Given the description of an element on the screen output the (x, y) to click on. 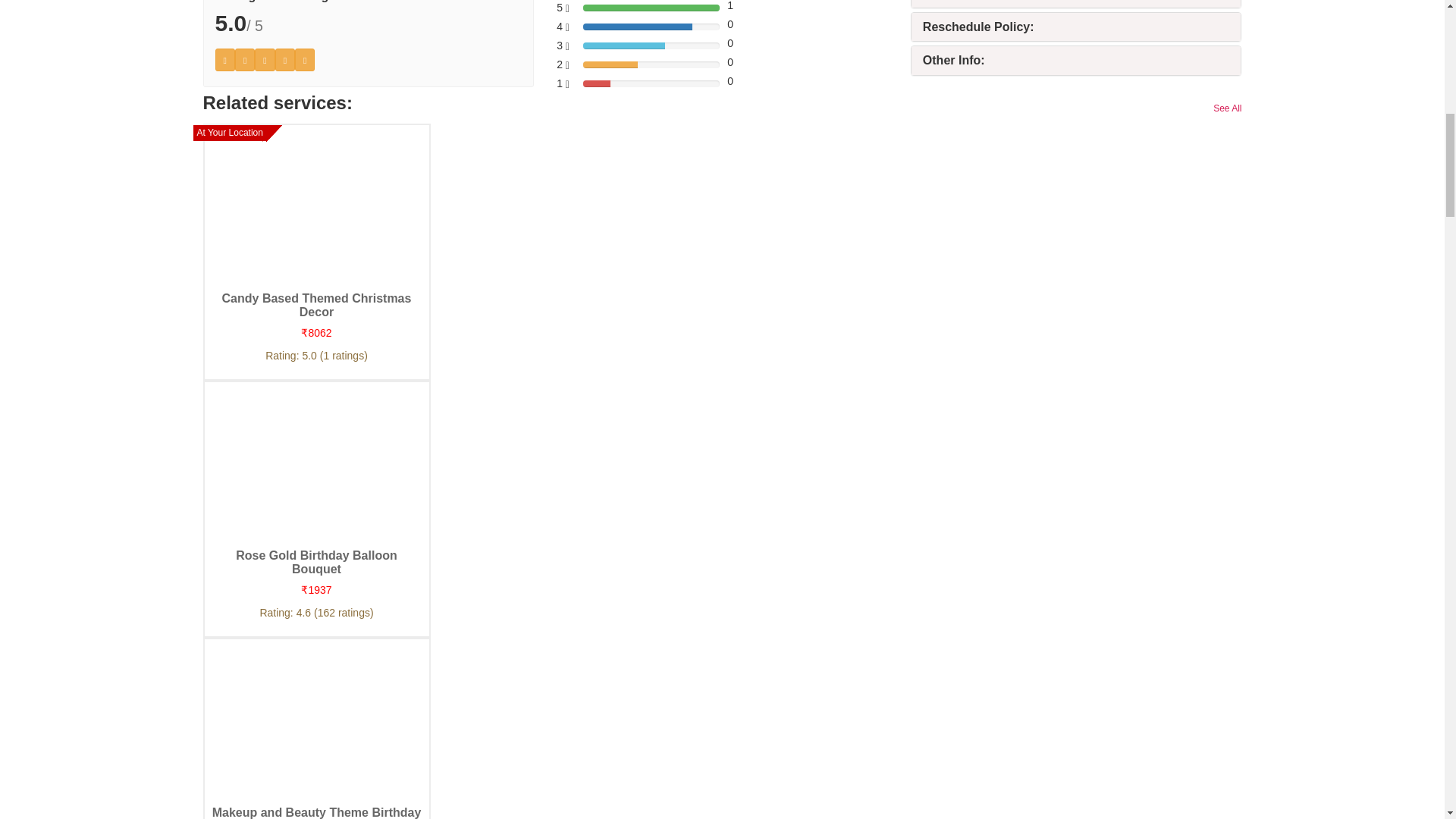
Other Info: (954, 60)
See All (1226, 107)
Reschedule Policy: (978, 26)
